Given the description of an element on the screen output the (x, y) to click on. 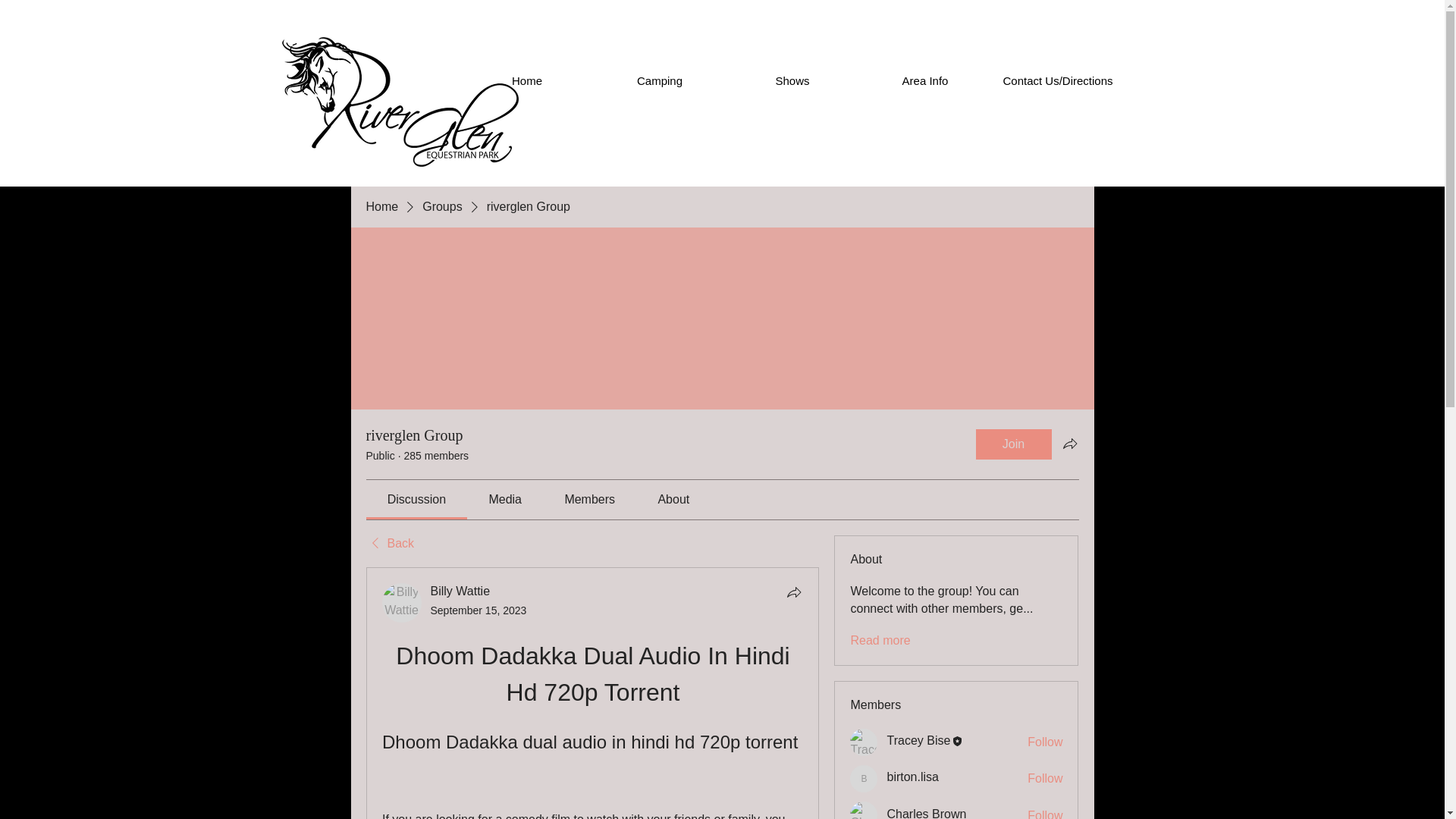
Camping (658, 80)
birton.lisa (911, 776)
Billy Wattie (401, 602)
Follow (1044, 778)
Charles Brown (863, 810)
Follow (1044, 742)
Shows (792, 80)
Follow (1044, 813)
Tracey Bise (918, 739)
Read more (880, 640)
Home (381, 207)
birton.lisa (863, 778)
Groups (441, 207)
Join (1013, 444)
Back (389, 543)
